Given the description of an element on the screen output the (x, y) to click on. 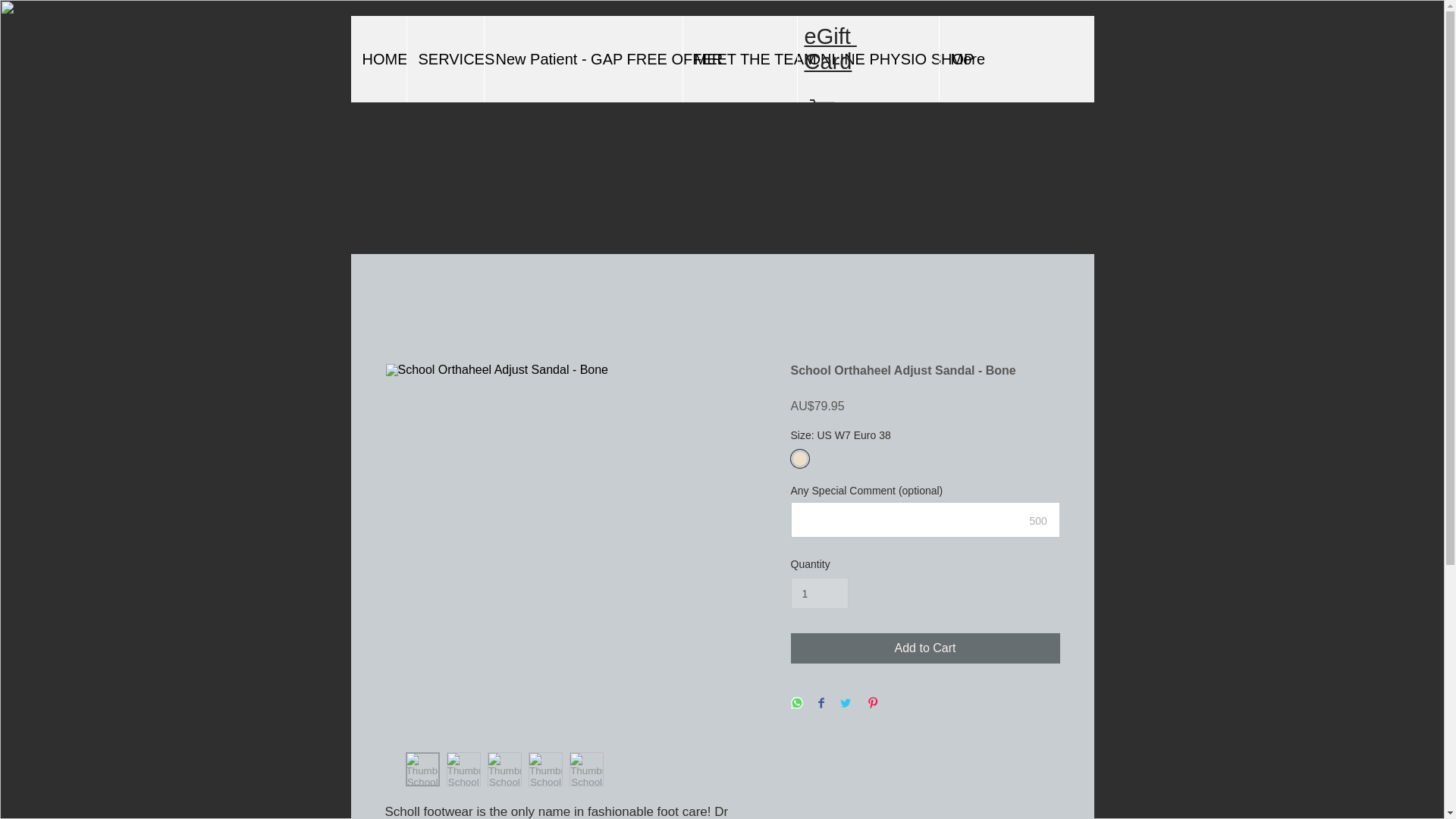
SERVICES (444, 58)
New Patient - GAP FREE OFFER (582, 58)
MEET THE TEAM (739, 58)
eGift  Card (829, 48)
ONLINE PHYSIO SHOP (866, 58)
1 (818, 593)
Cart (846, 108)
Facebook Like (784, 229)
Cart (846, 108)
HOME (378, 58)
